Given the description of an element on the screen output the (x, y) to click on. 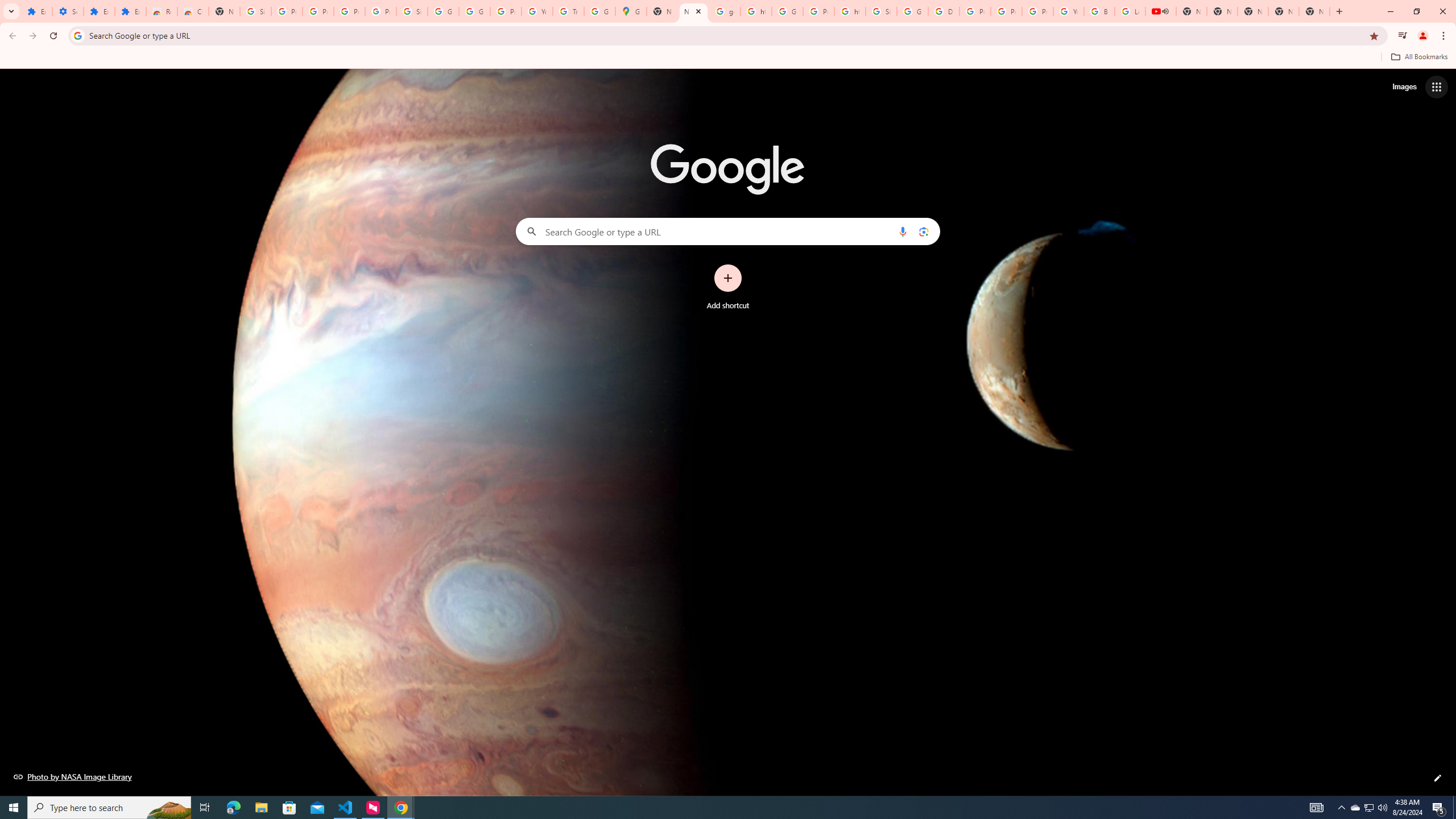
New Tab (693, 11)
New Tab (223, 11)
Search icon (77, 35)
Privacy Help Center - Policies Help (1005, 11)
Search by image (922, 230)
Bookmarks (728, 58)
Sign in - Google Accounts (881, 11)
Chrome Web Store - Themes (192, 11)
